Given the description of an element on the screen output the (x, y) to click on. 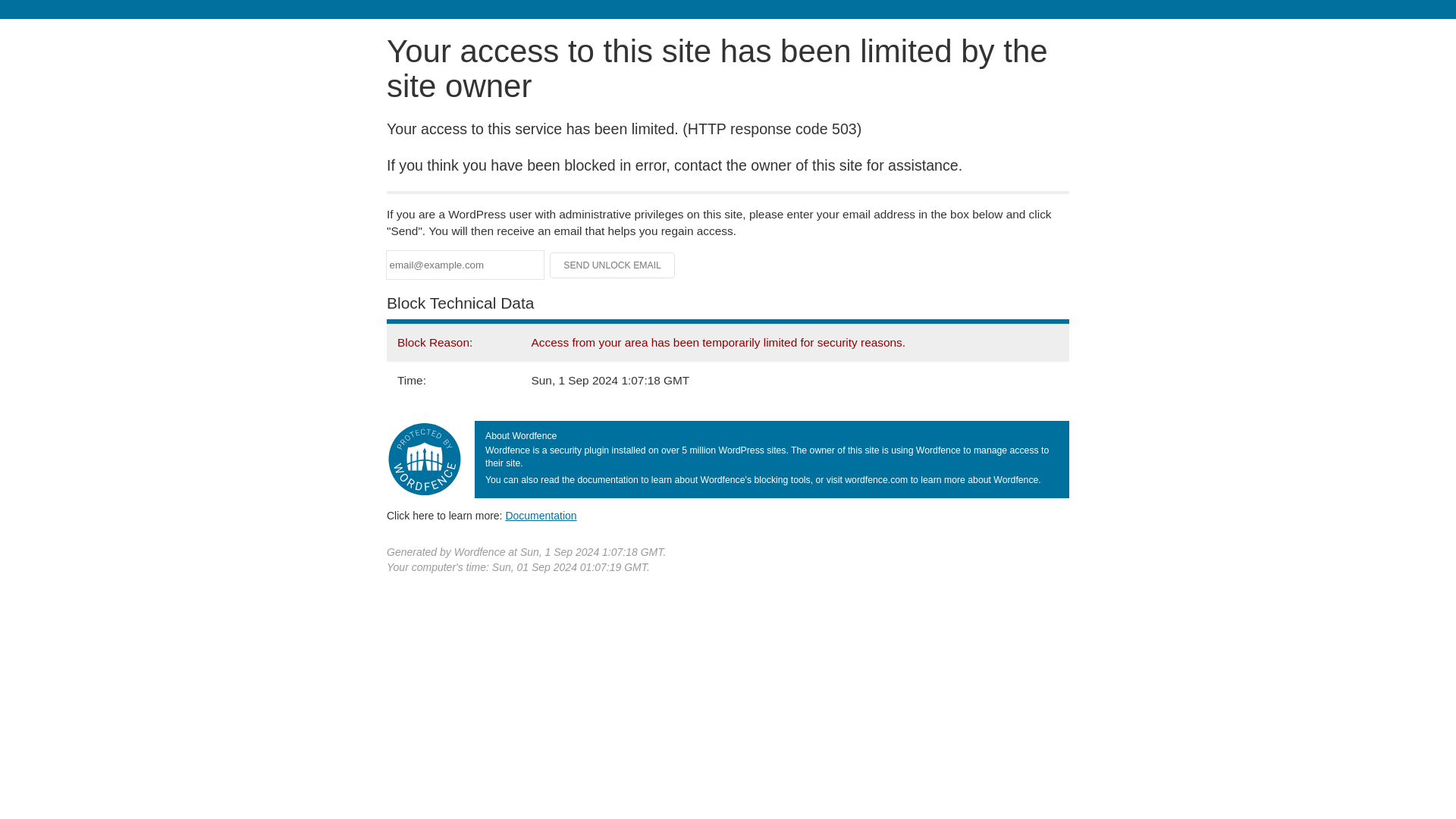
Send Unlock Email (612, 265)
Documentation (540, 515)
Send Unlock Email (612, 265)
